Given the description of an element on the screen output the (x, y) to click on. 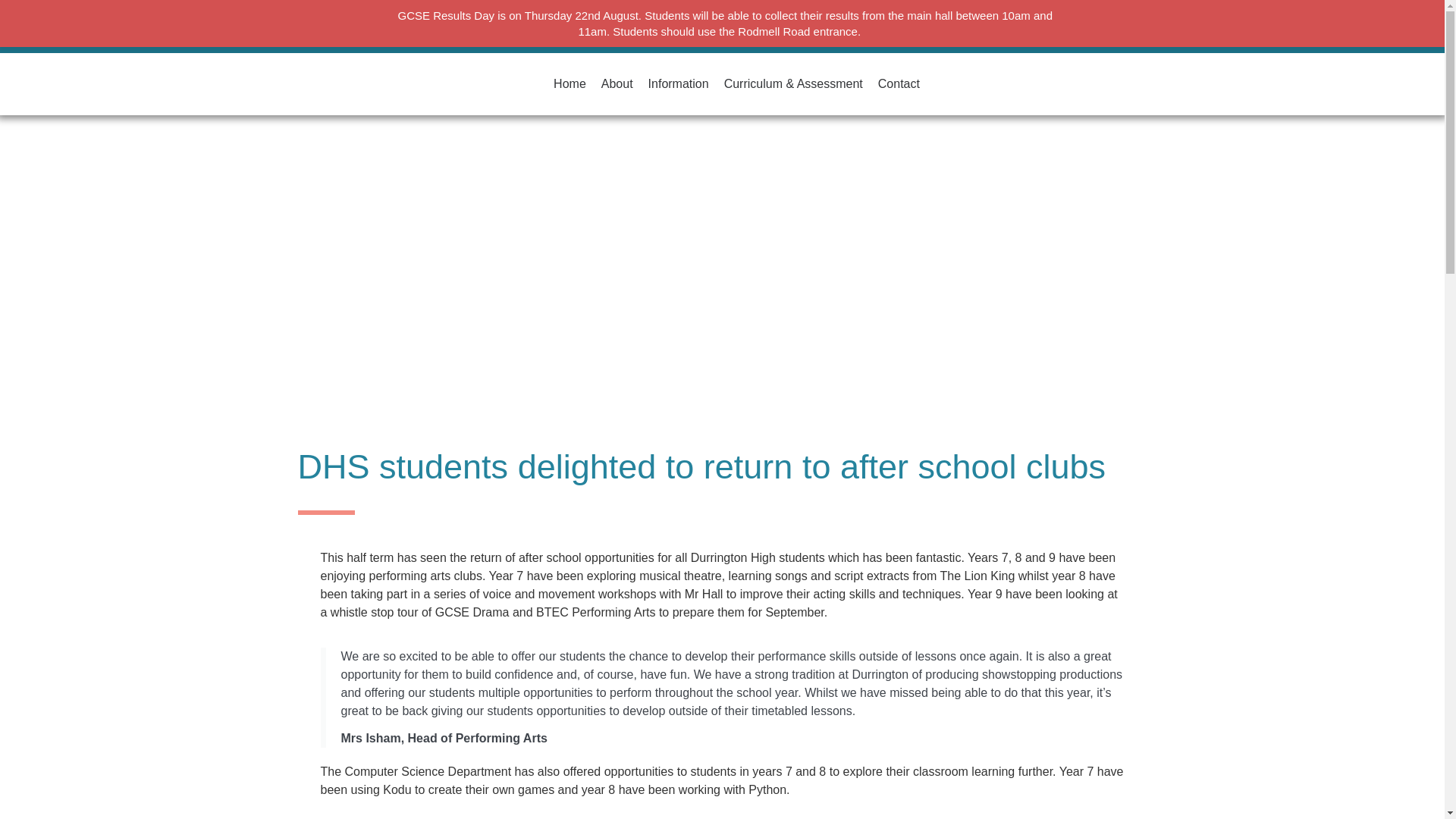
Durrington High Leisure (863, 25)
tw (773, 40)
google (619, 13)
pmail (593, 40)
facebook (723, 40)
AccessIT (653, 40)
About (617, 83)
Vacancies (958, 25)
Information (678, 83)
office (765, 13)
Xello Careers (693, 13)
Home (570, 83)
arbor (566, 13)
01903 244957 (472, 26)
